Given the description of an element on the screen output the (x, y) to click on. 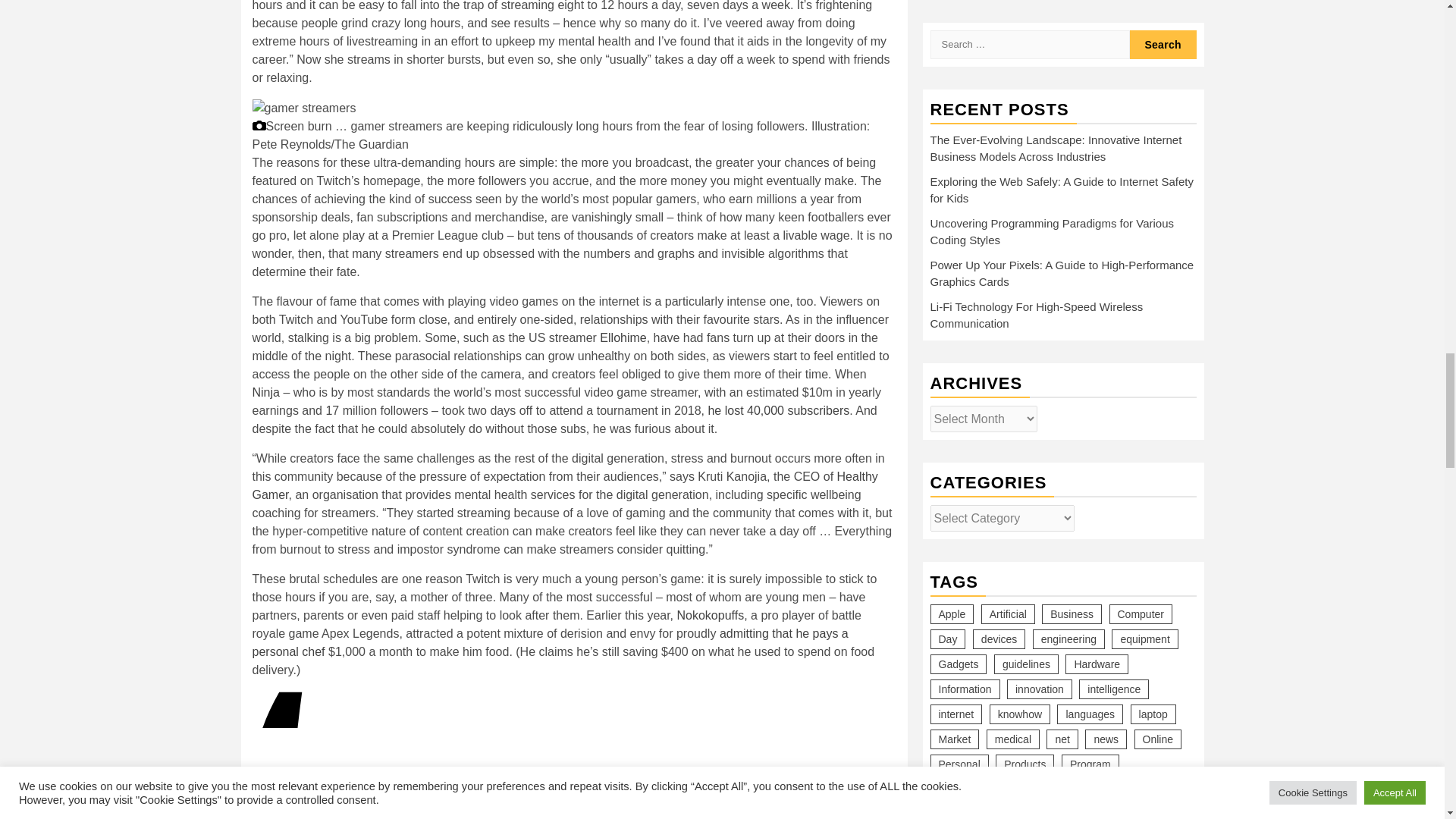
Ellohime (622, 337)
Ninja (265, 391)
Nokokopuffs (710, 615)
Healthy Gamer (564, 485)
admitting that he pays a personal chef (549, 642)
he lost 40,000 subscribers (777, 410)
